Given the description of an element on the screen output the (x, y) to click on. 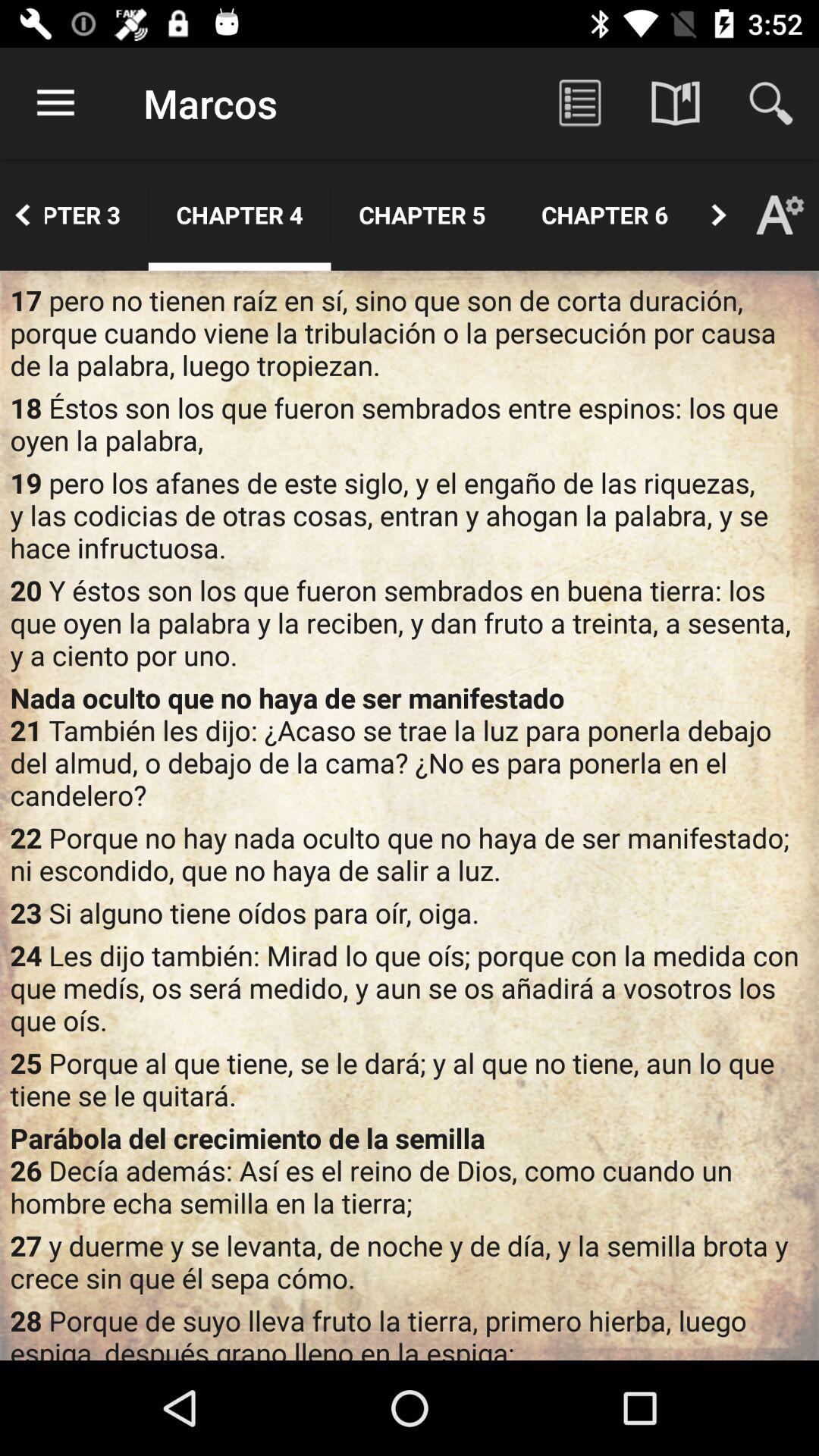
click the icon above the 17 pero no item (239, 214)
